Given the description of an element on the screen output the (x, y) to click on. 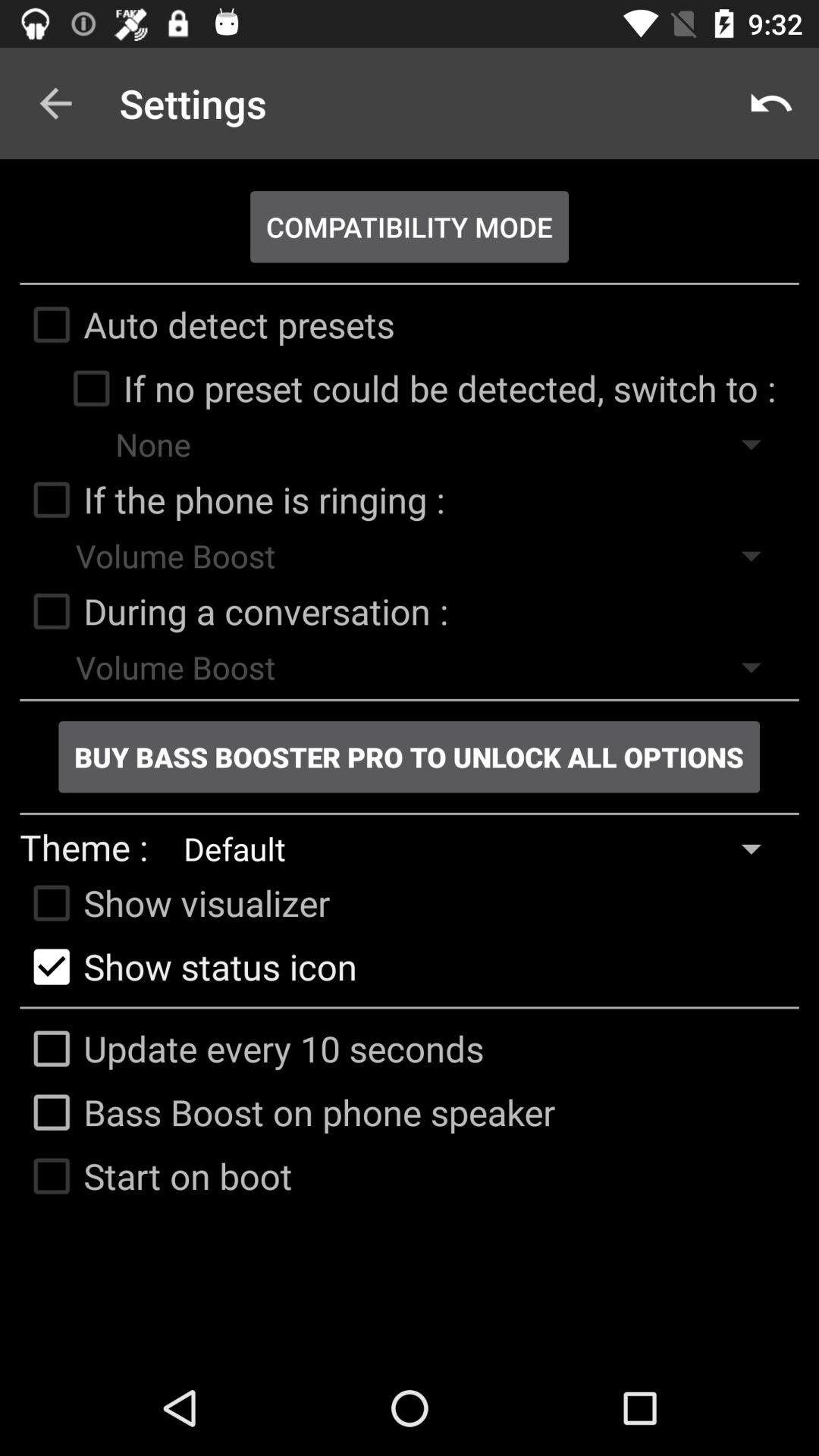
select icon to the left of settings item (55, 103)
